Given the description of an element on the screen output the (x, y) to click on. 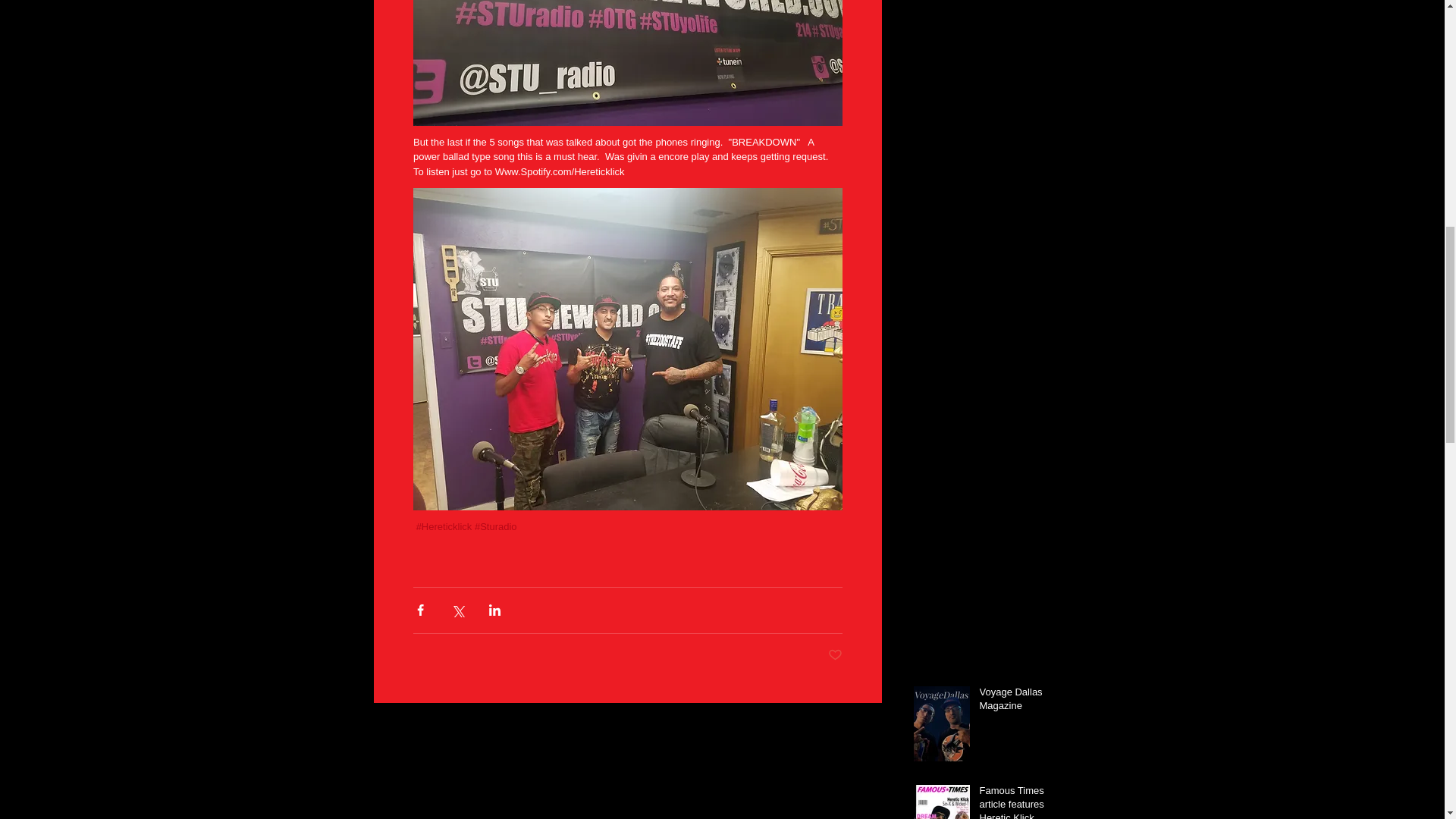
Voyage Dallas Magazine (1020, 702)
Post not marked as liked (835, 655)
Famous Times article features Heretic Klick (1020, 801)
